Given the description of an element on the screen output the (x, y) to click on. 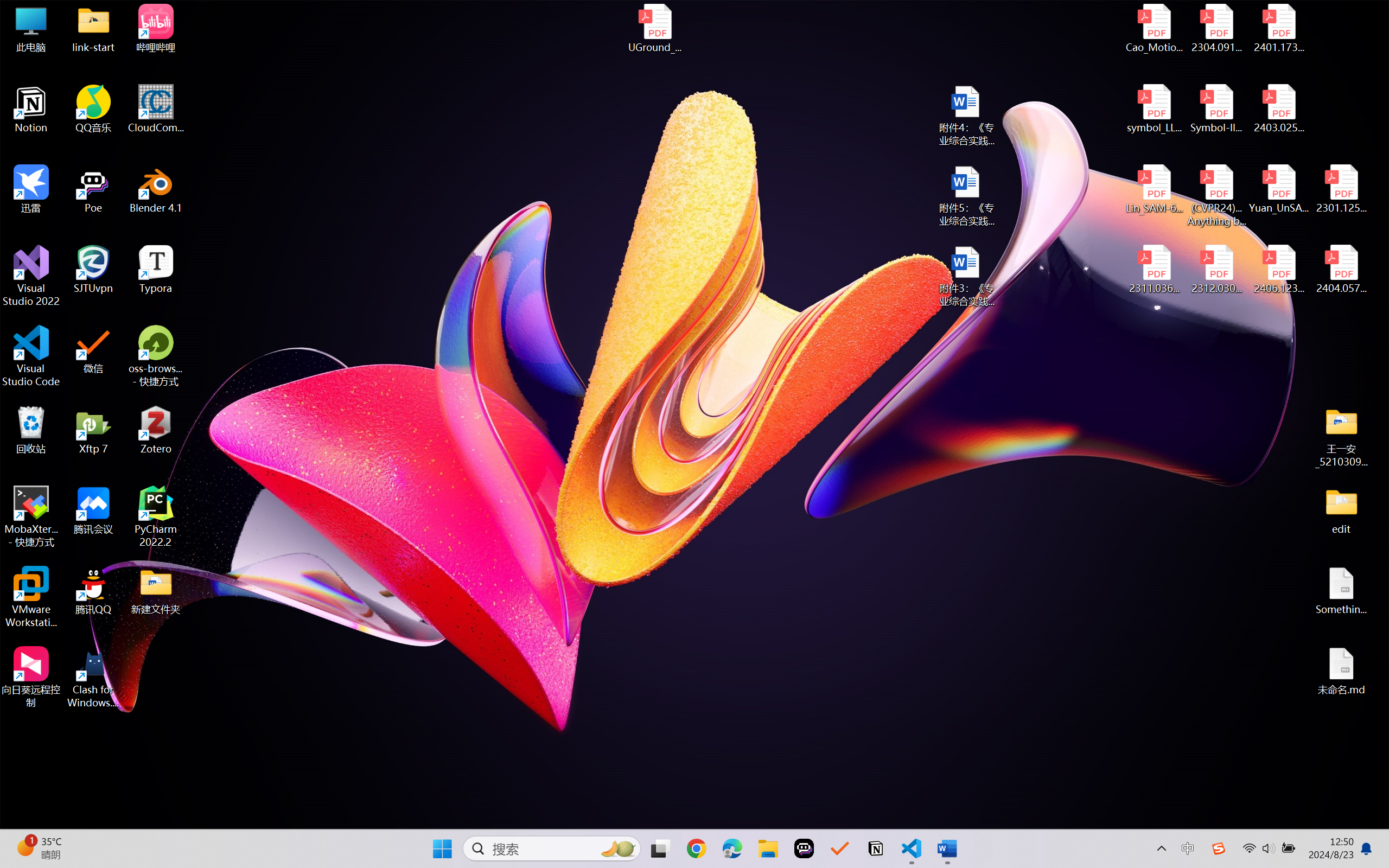
Visual Studio Code (31, 355)
Symbol-llm-v2.pdf (1216, 109)
Xftp 7 (93, 430)
Typora (156, 269)
